Given the description of an element on the screen output the (x, y) to click on. 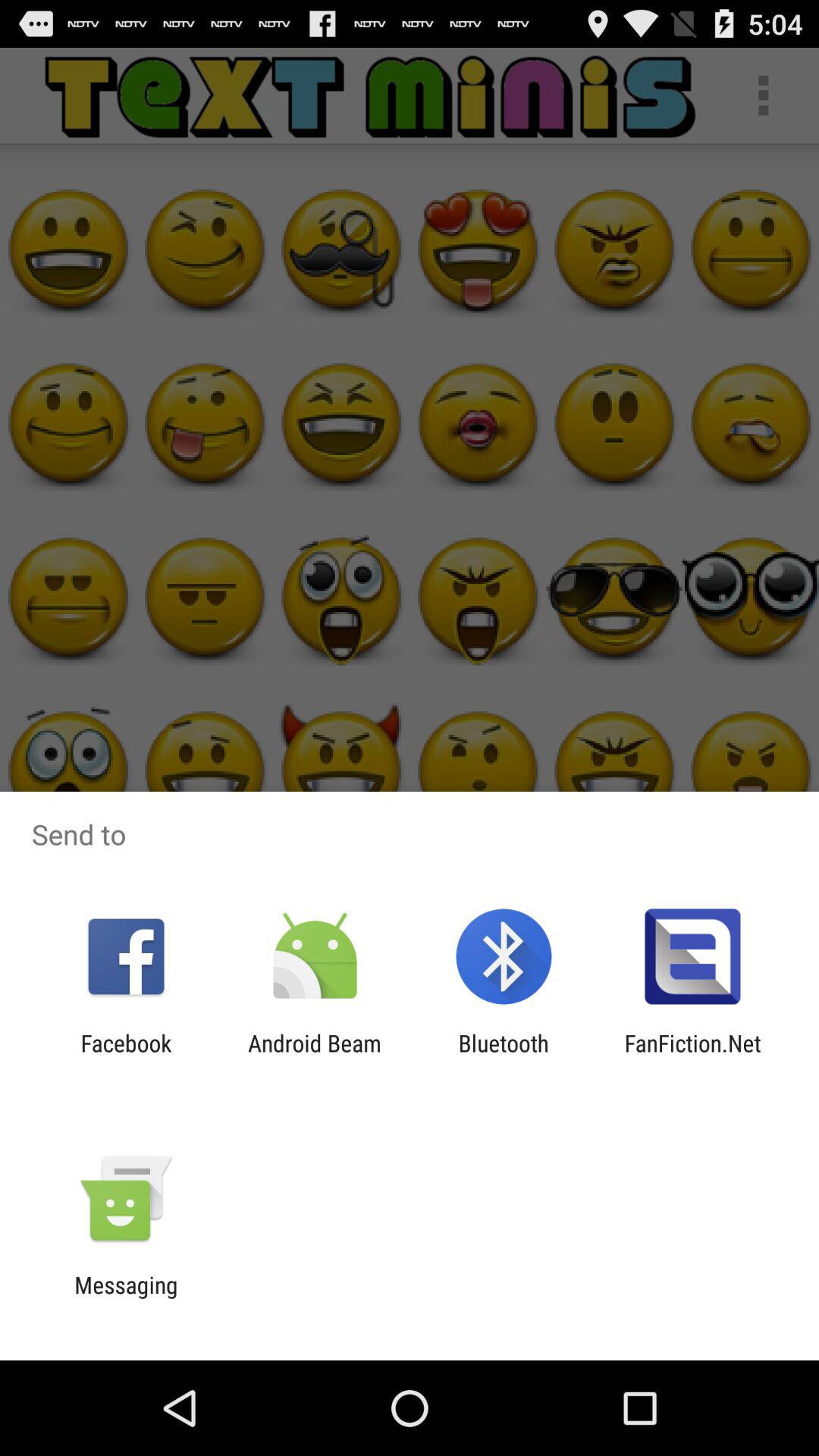
turn on the app to the right of facebook app (314, 1056)
